Given the description of an element on the screen output the (x, y) to click on. 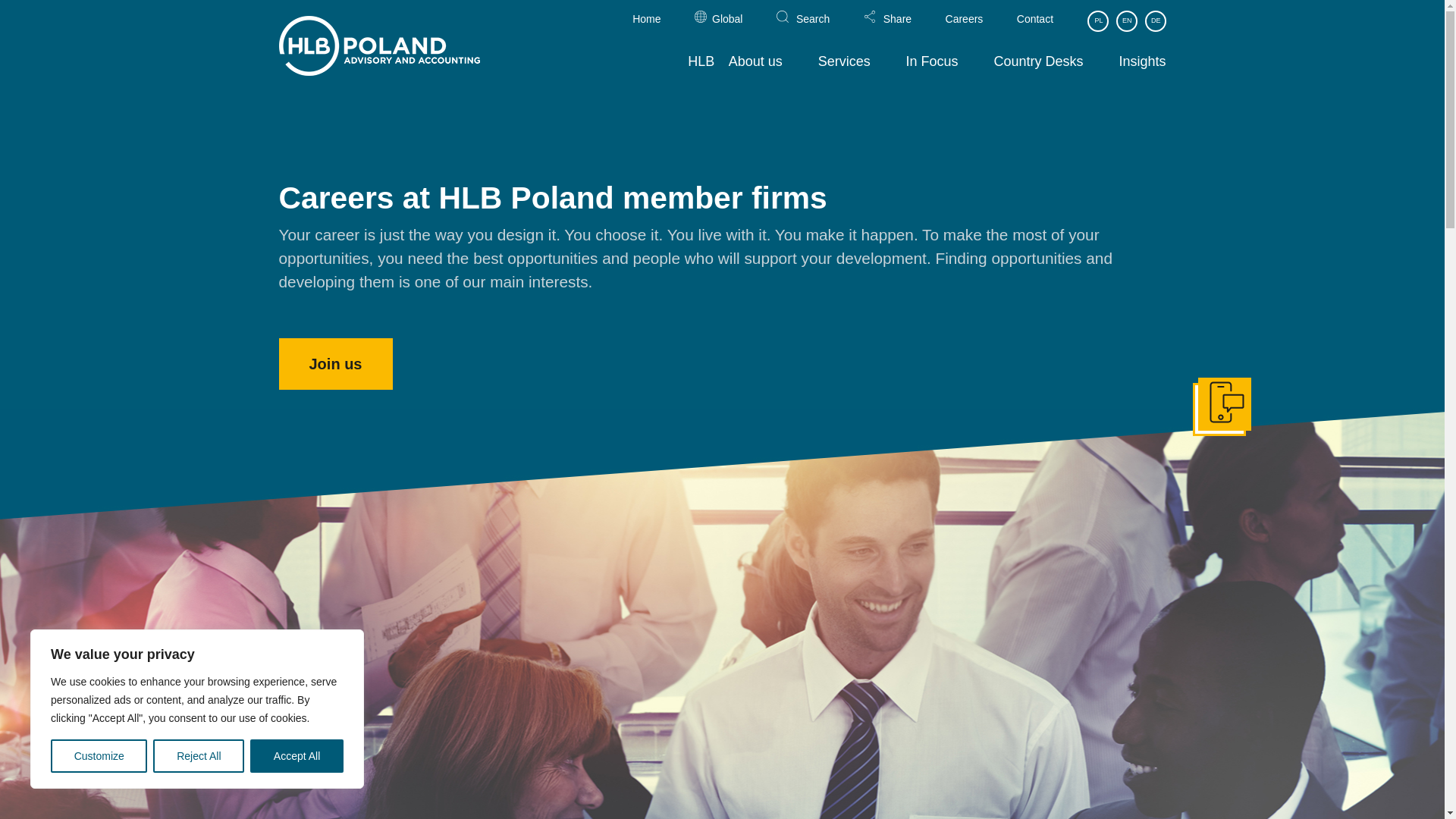
Accept All (296, 756)
Customize (98, 756)
Reject All (198, 756)
